Given the description of an element on the screen output the (x, y) to click on. 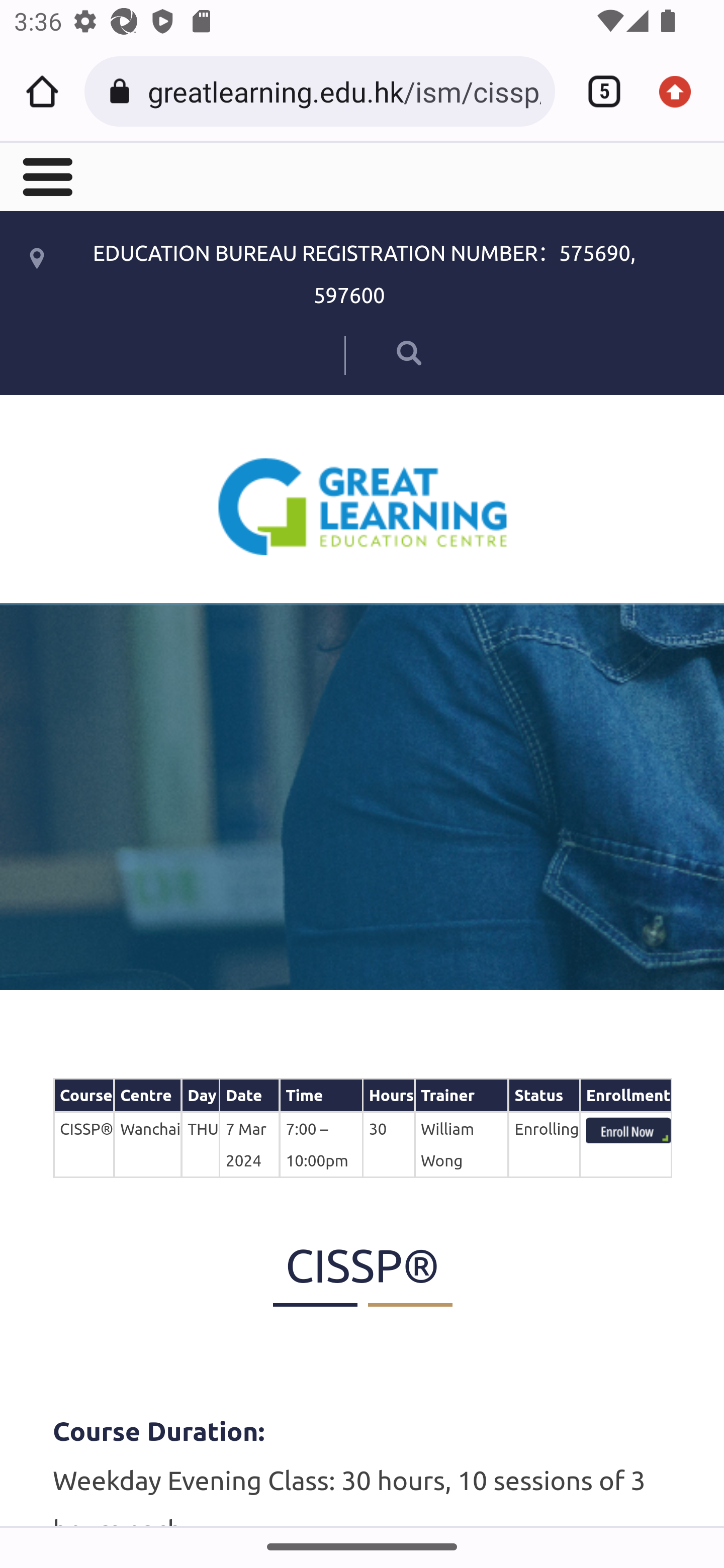
Home (42, 91)
Connection is secure (122, 91)
Switch or close tabs (597, 91)
Update available. More options (681, 91)
 (45, 175)
 (382, 351)
Welcome to Great Learning Education Centre (362, 505)
index (627, 1130)
